Given the description of an element on the screen output the (x, y) to click on. 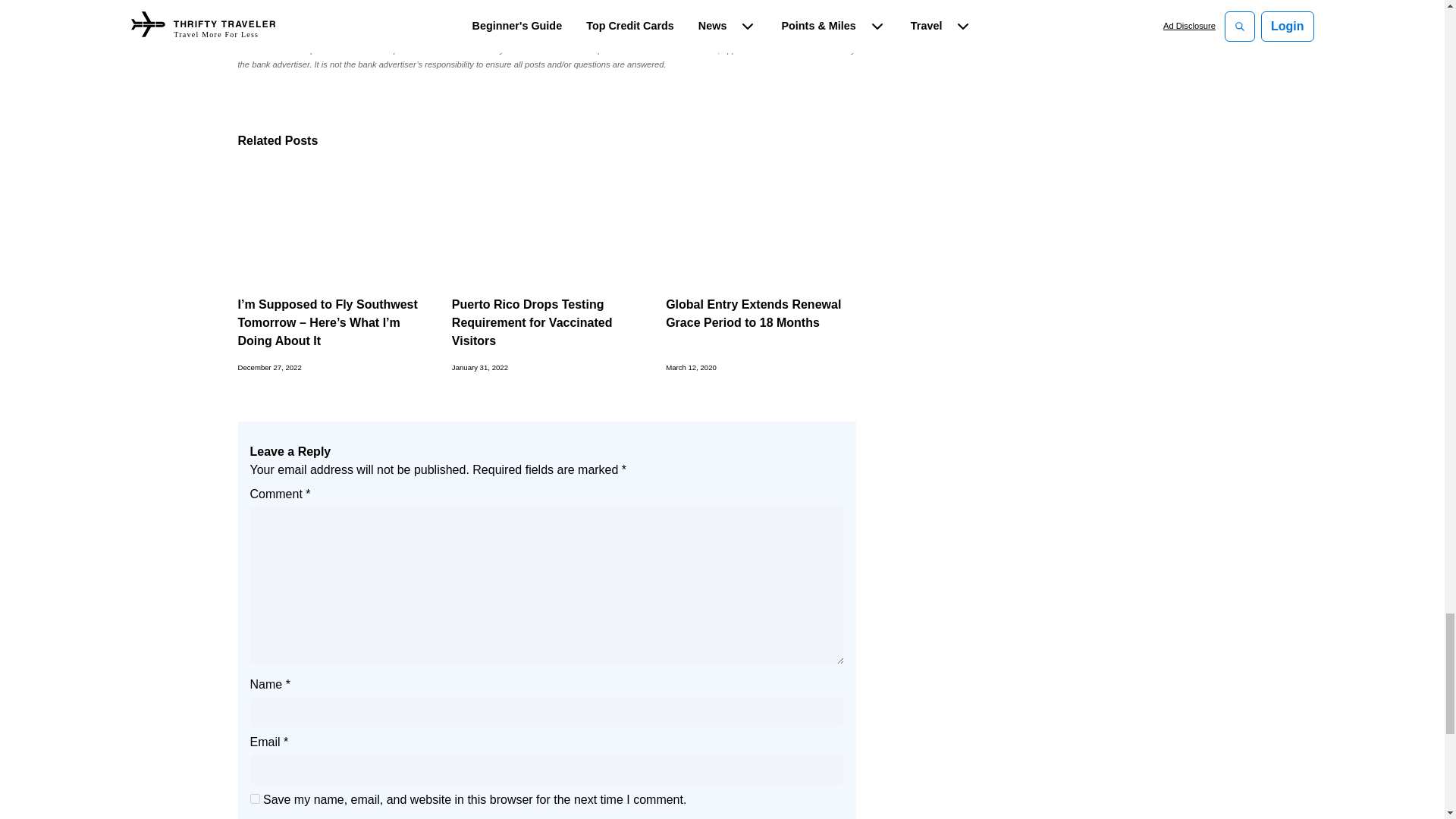
yes (255, 798)
